Given the description of an element on the screen output the (x, y) to click on. 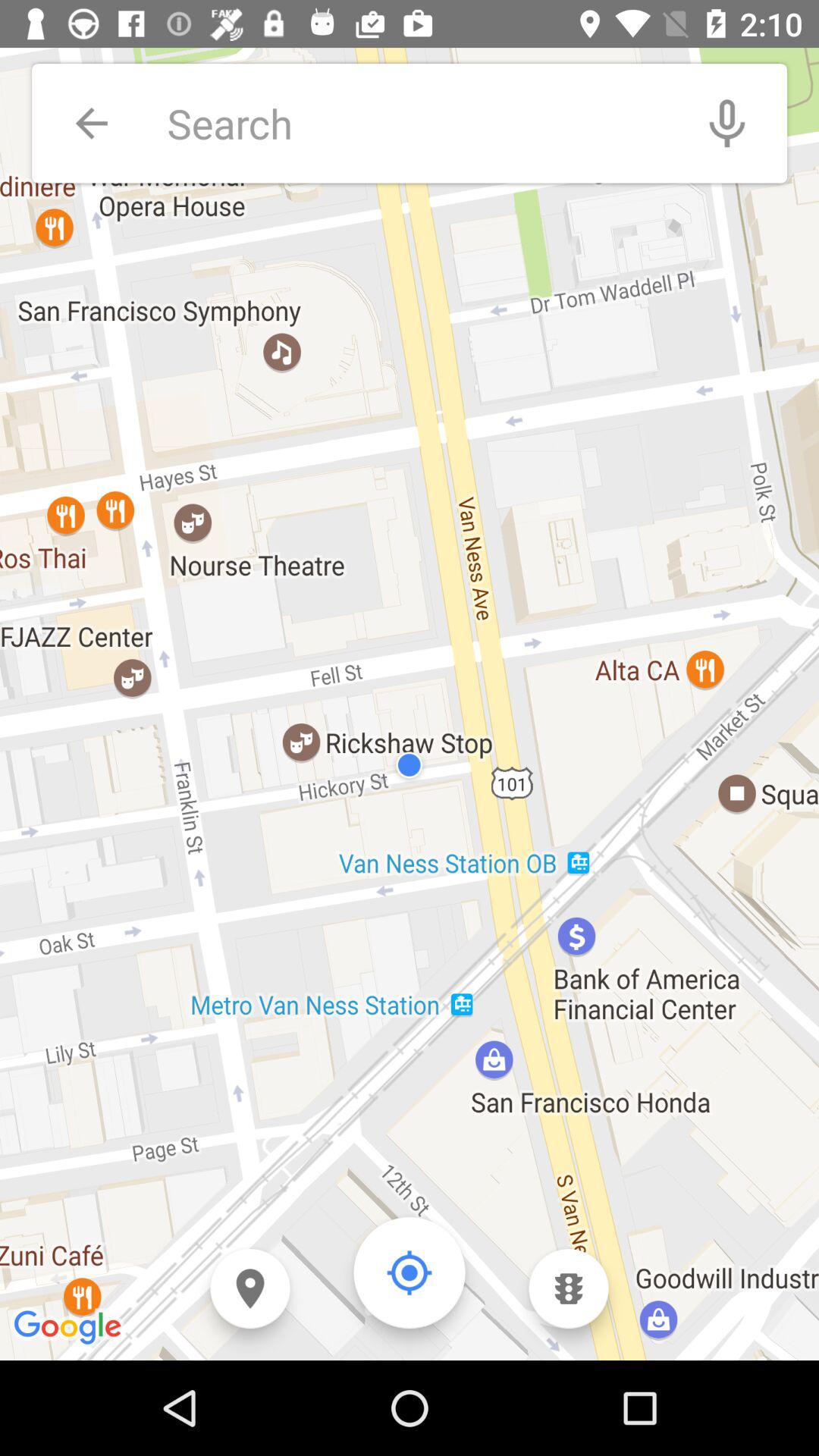
go back to home (409, 1272)
